Given the description of an element on the screen output the (x, y) to click on. 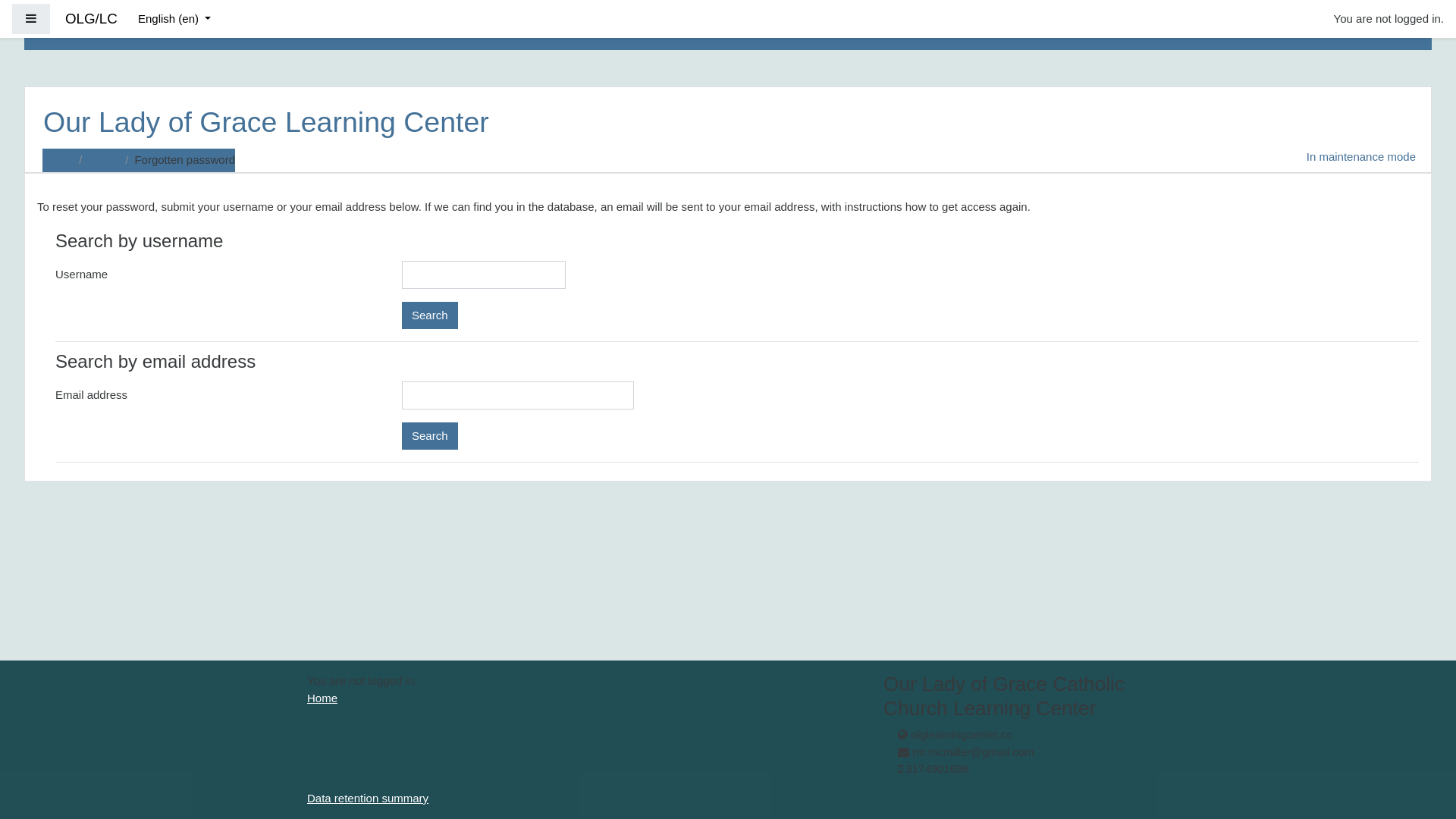
English (en) Element type: text (173, 19)
Home Element type: text (322, 697)
Search Element type: text (429, 435)
Search Element type: text (429, 315)
Log in Element type: text (103, 159)
Our Lady of Grace Learning Center Element type: text (266, 125)
Side panel Element type: text (31, 18)
Home Element type: text (57, 159)
In maintenance mode Element type: text (1360, 160)
Data retention summary Element type: text (367, 797)
OLG/LC Element type: text (91, 19)
